Given the description of an element on the screen output the (x, y) to click on. 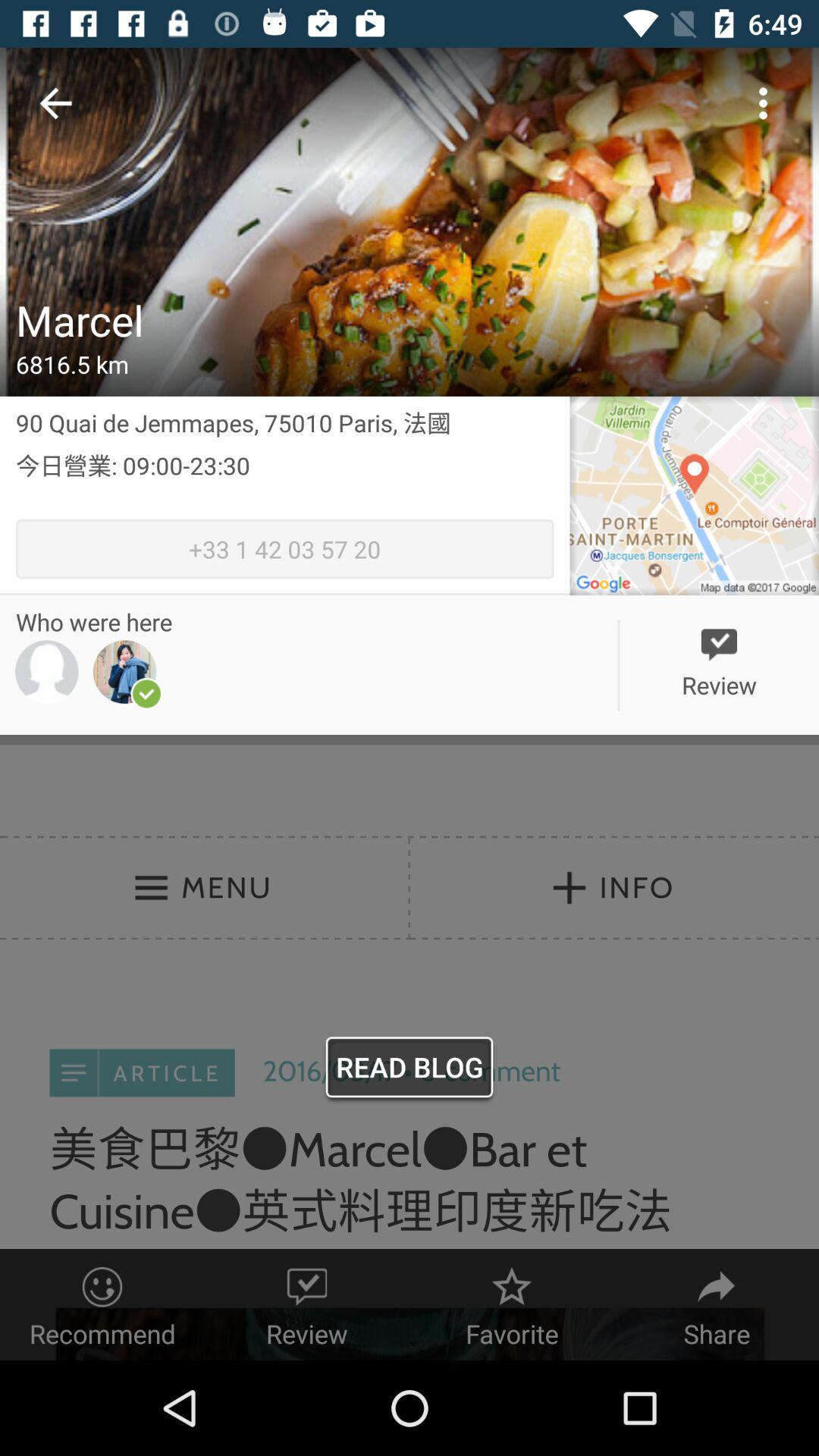
press the item at the bottom (409, 1071)
